Given the description of an element on the screen output the (x, y) to click on. 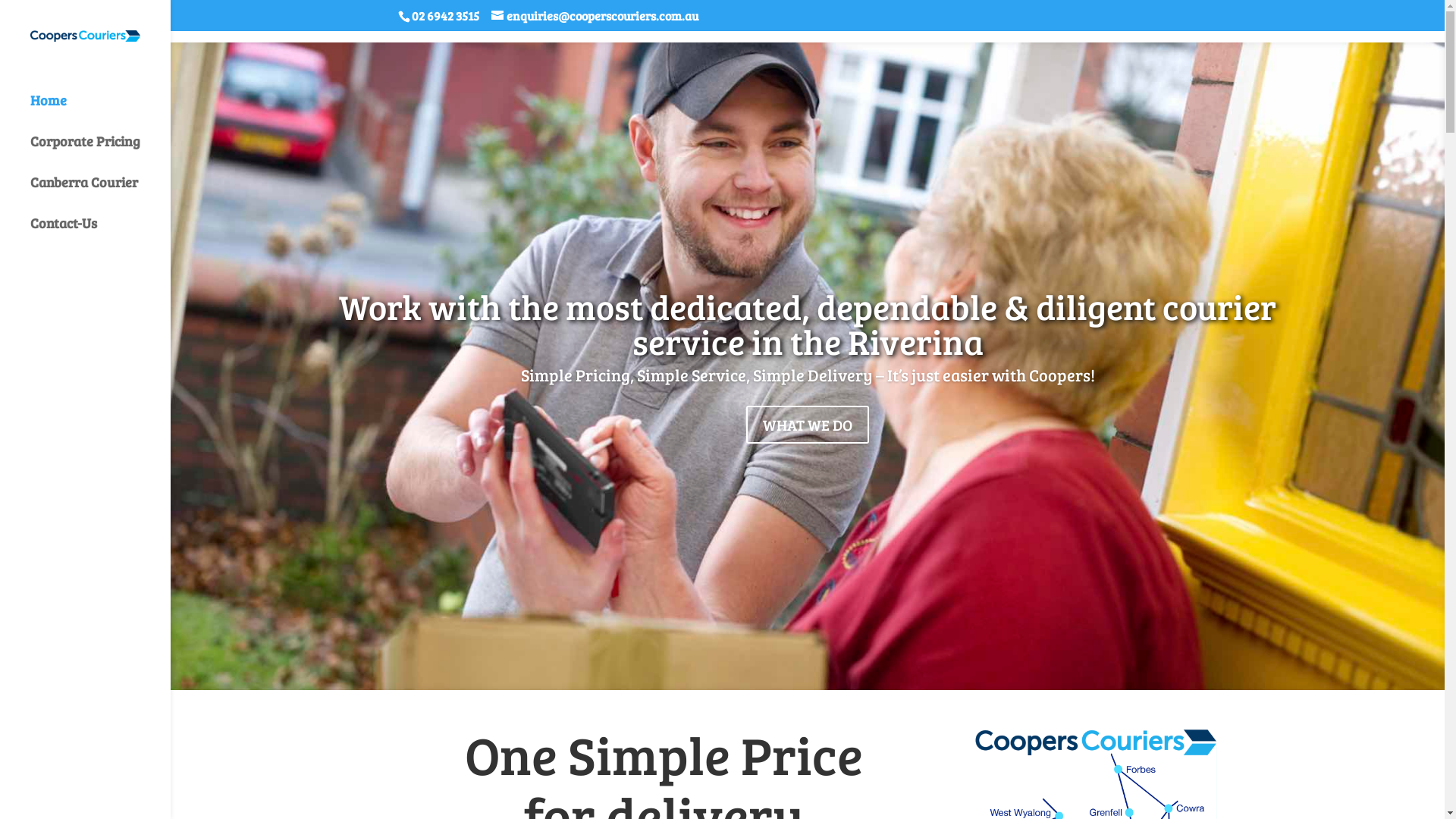
WHAT WE DO Element type: text (807, 424)
Home Element type: text (100, 107)
Canberra Courier Element type: text (100, 189)
enquiries@cooperscouriers.com.au Element type: text (594, 15)
Corporate Pricing Element type: text (100, 148)
Contact-Us Element type: text (100, 230)
